Given the description of an element on the screen output the (x, y) to click on. 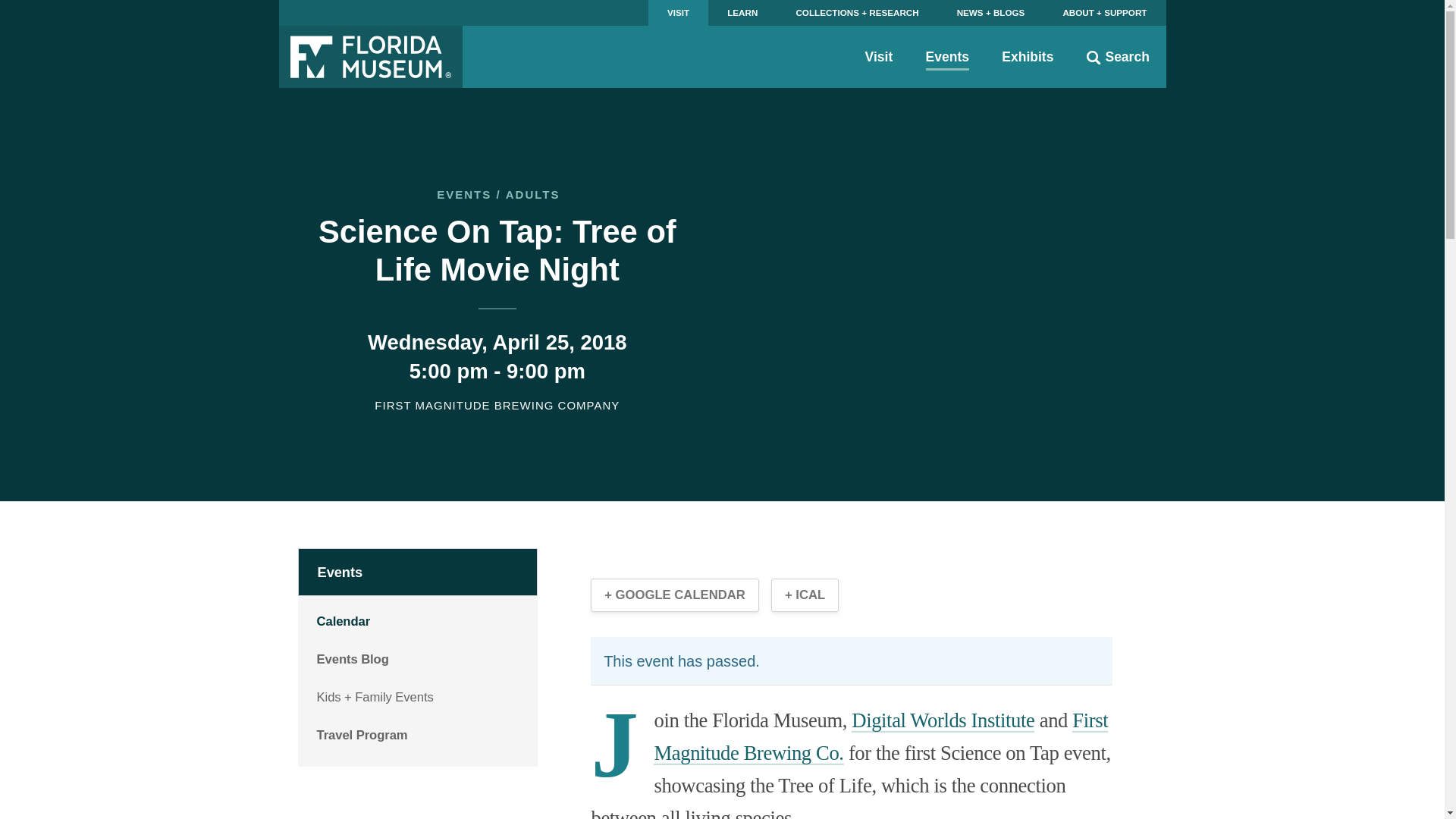
Search (1118, 56)
Calendar (418, 620)
Events (418, 571)
Florida Museum (371, 56)
VISIT (677, 12)
Travel Program (418, 734)
Events (947, 56)
ADULTS (532, 194)
EVENTS (464, 194)
Exhibits (1026, 56)
